Given the description of an element on the screen output the (x, y) to click on. 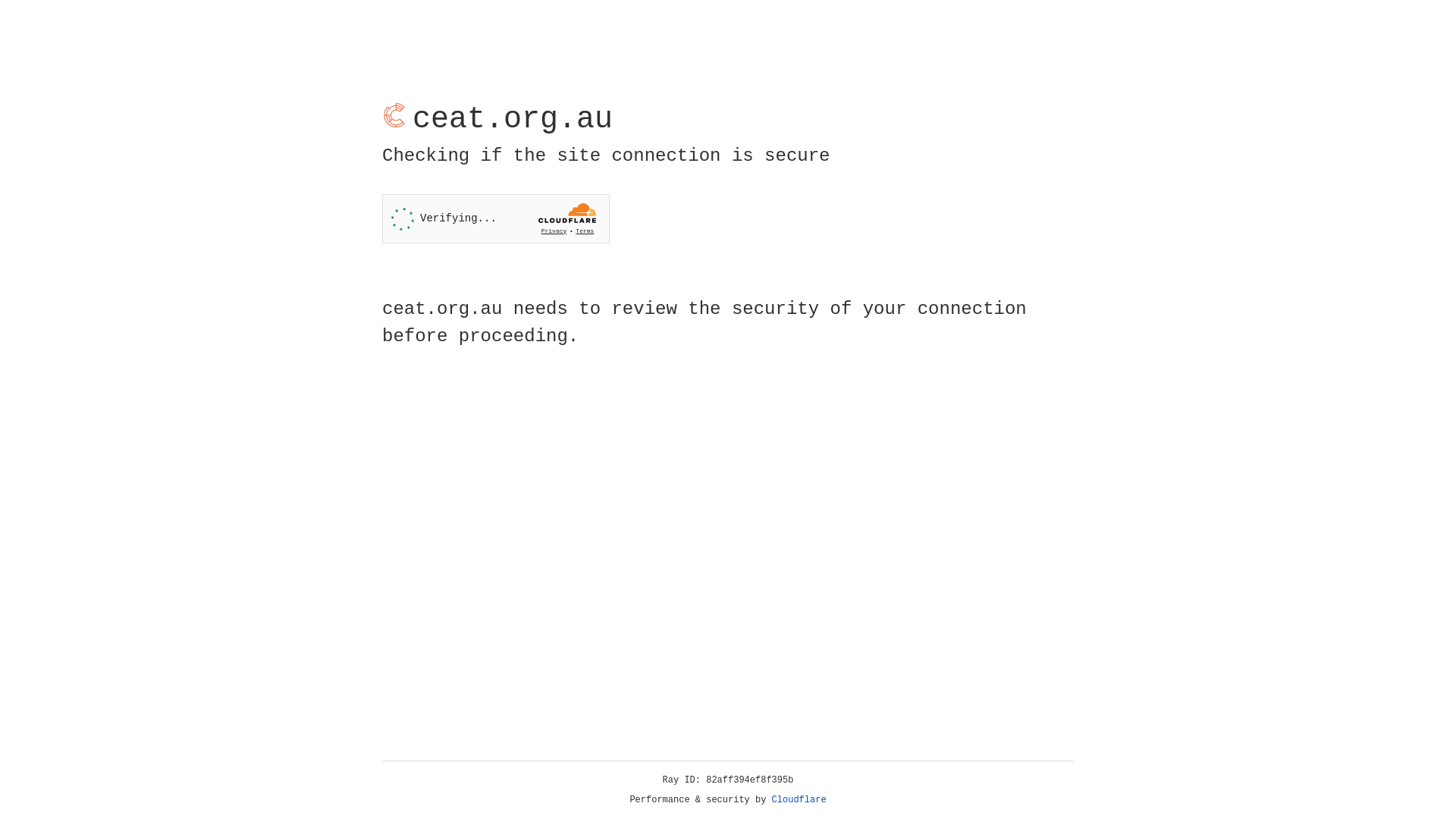
Widget containing a Cloudflare security challenge Element type: hover (495, 218)
Cloudflare Element type: text (798, 799)
